Given the description of an element on the screen output the (x, y) to click on. 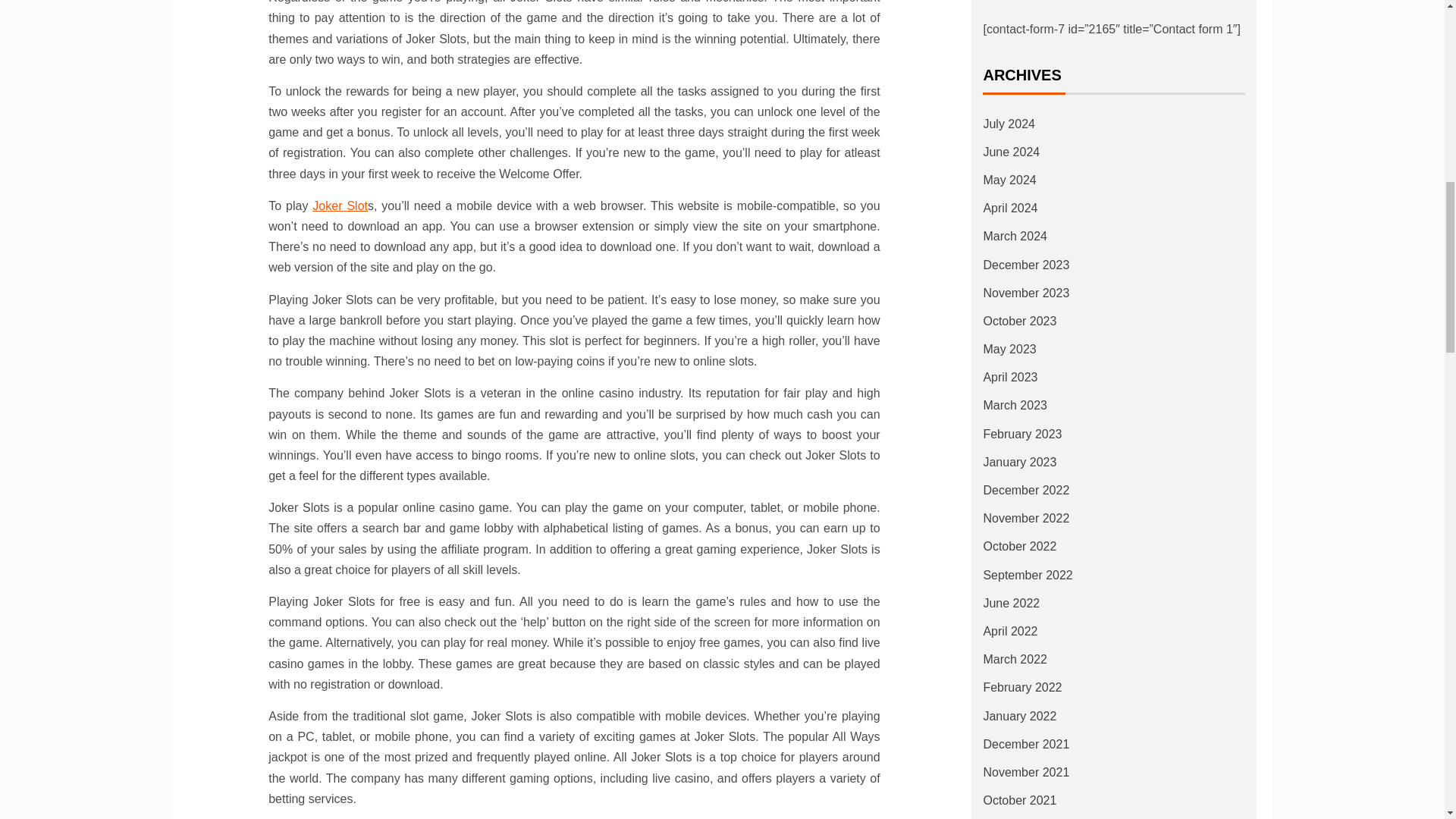
Joker Slot (340, 205)
